Given the description of an element on the screen output the (x, y) to click on. 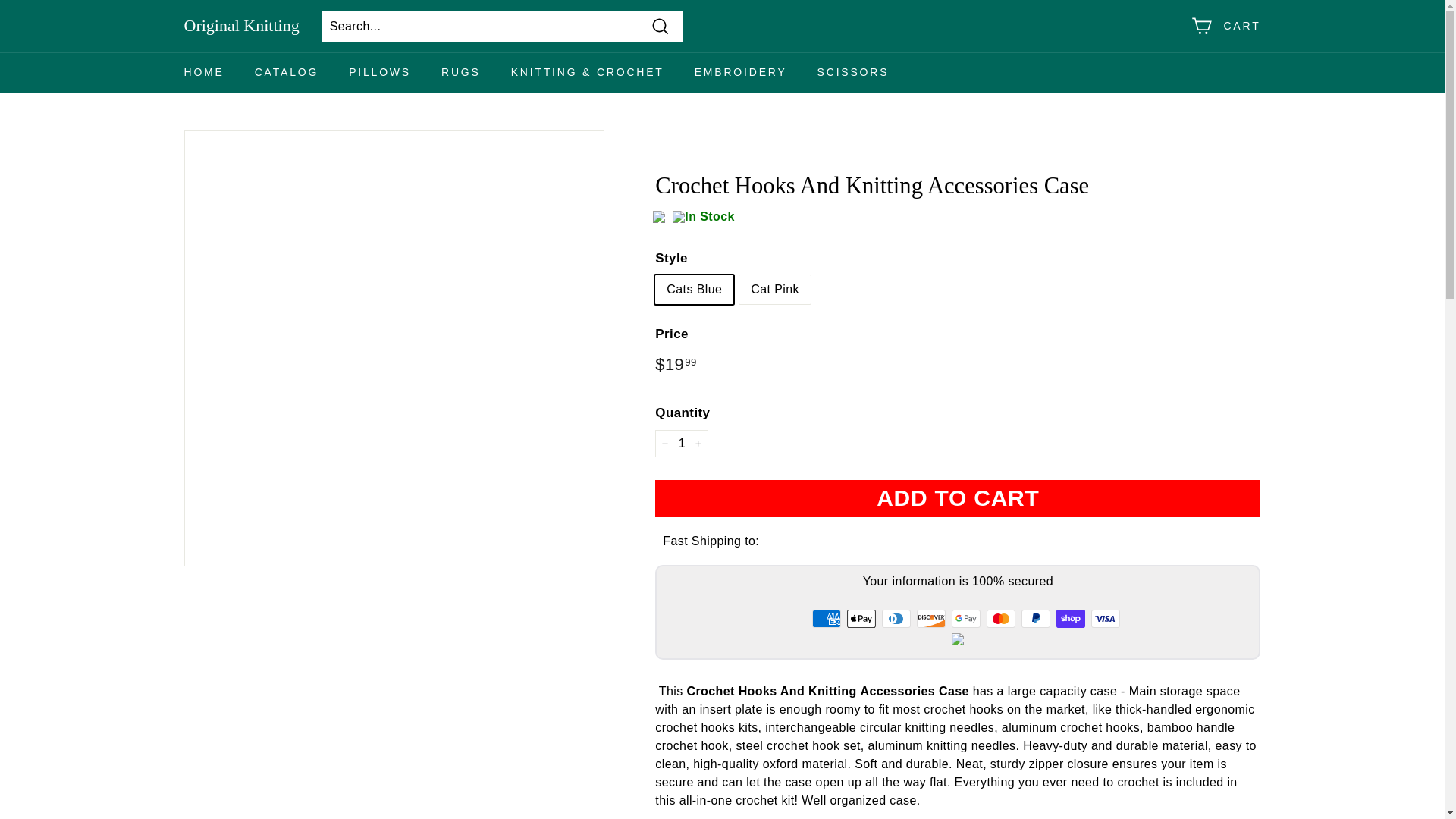
Original Knitting (240, 25)
Visa (1104, 618)
1 (681, 443)
CATALOG (286, 72)
Mastercard (1000, 618)
PILLOWS (379, 72)
PayPal (1035, 618)
Diners Club (896, 618)
Apple Pay (861, 618)
American Express (826, 618)
Google Pay (965, 618)
Discover (930, 618)
